Given the description of an element on the screen output the (x, y) to click on. 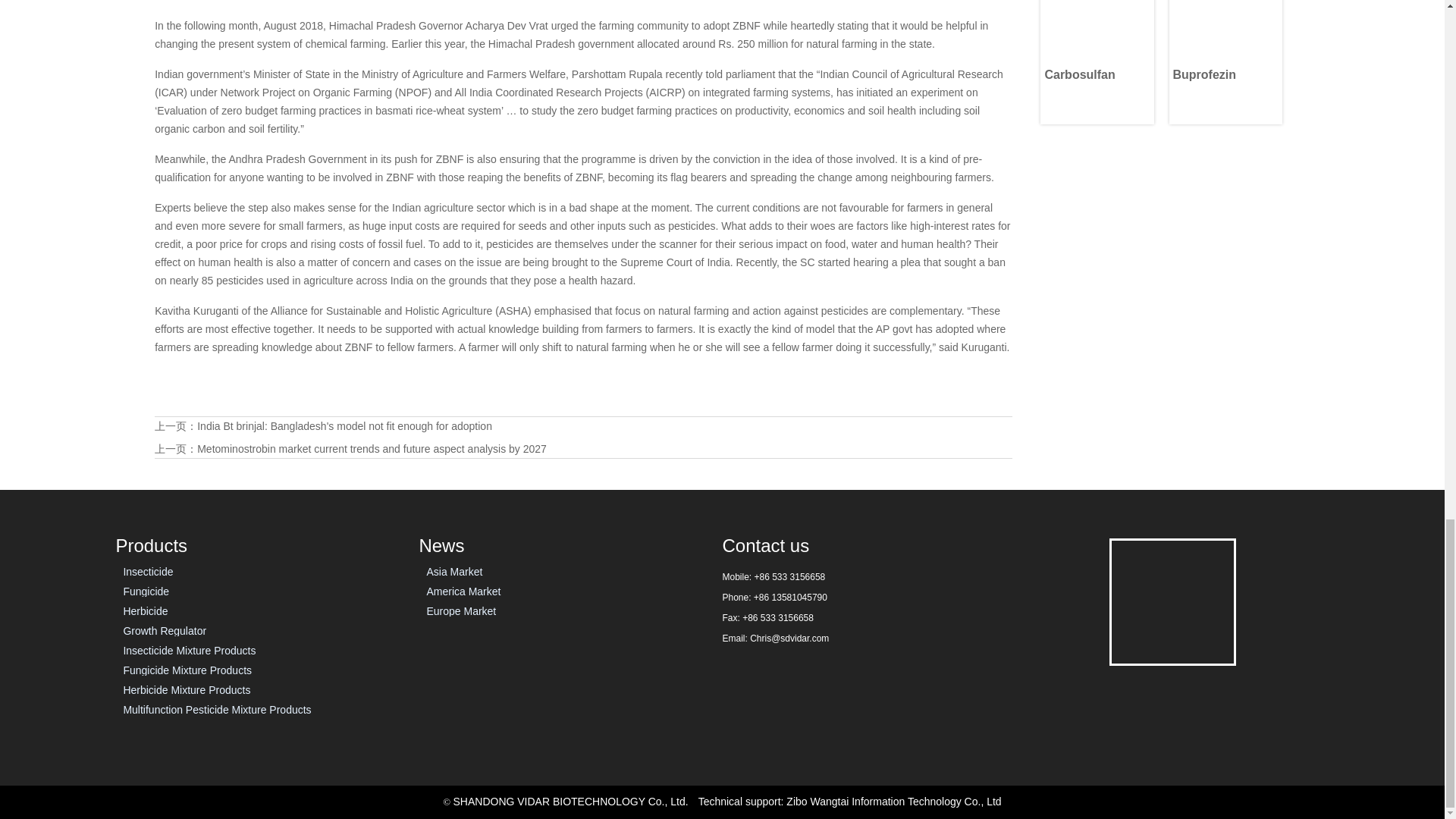
Insecticide (267, 571)
Fungicide (267, 591)
Carbosulfan (1097, 29)
Insecticide Mixture Products (267, 650)
America Market (570, 591)
Fungicide Mixture Products (267, 670)
Buprofezin (1225, 62)
Asia Market (570, 571)
